Given the description of an element on the screen output the (x, y) to click on. 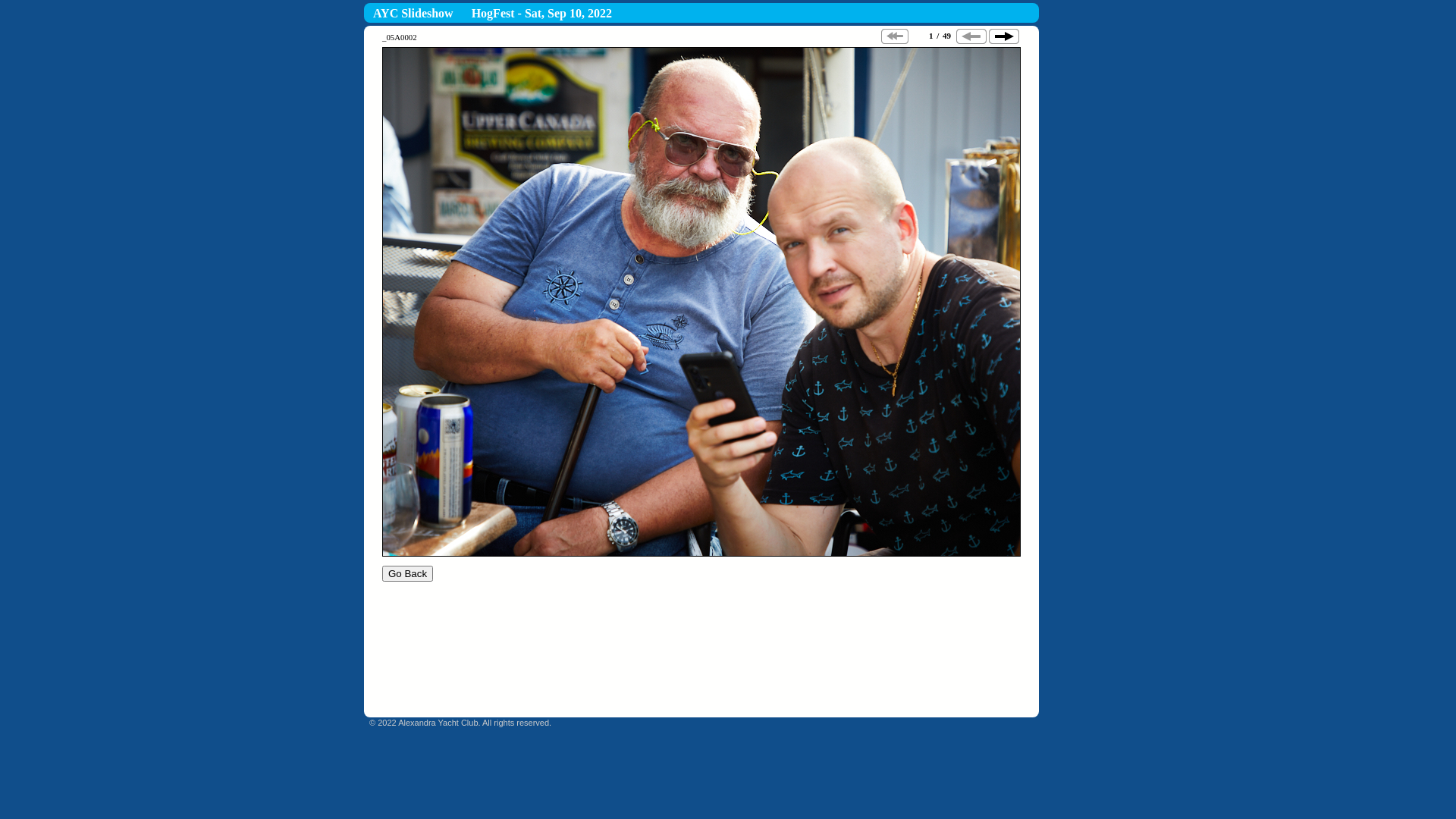
Go Back Element type: text (407, 573)
Start Element type: hover (894, 35)
Previous Element type: hover (971, 35)
Next Element type: hover (1003, 35)
